Given the description of an element on the screen output the (x, y) to click on. 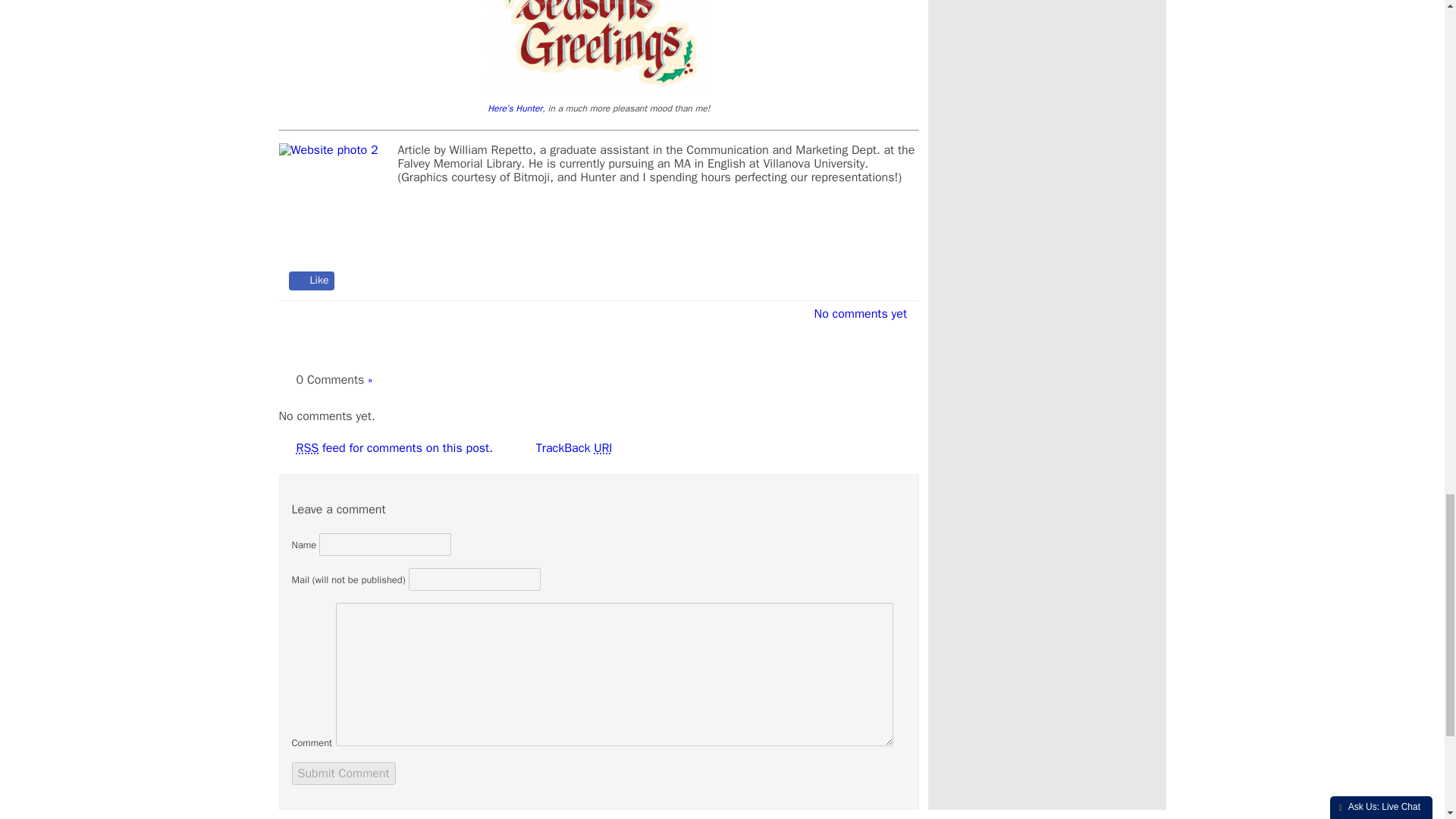
Submit Comment (342, 773)
Really Simple Syndication (306, 447)
Submit Comment (342, 773)
TrackBack URI (569, 447)
Uniform Resource Identifier (602, 447)
No comments yet (855, 313)
RSS feed for comments on this post. (393, 447)
